Given the description of an element on the screen output the (x, y) to click on. 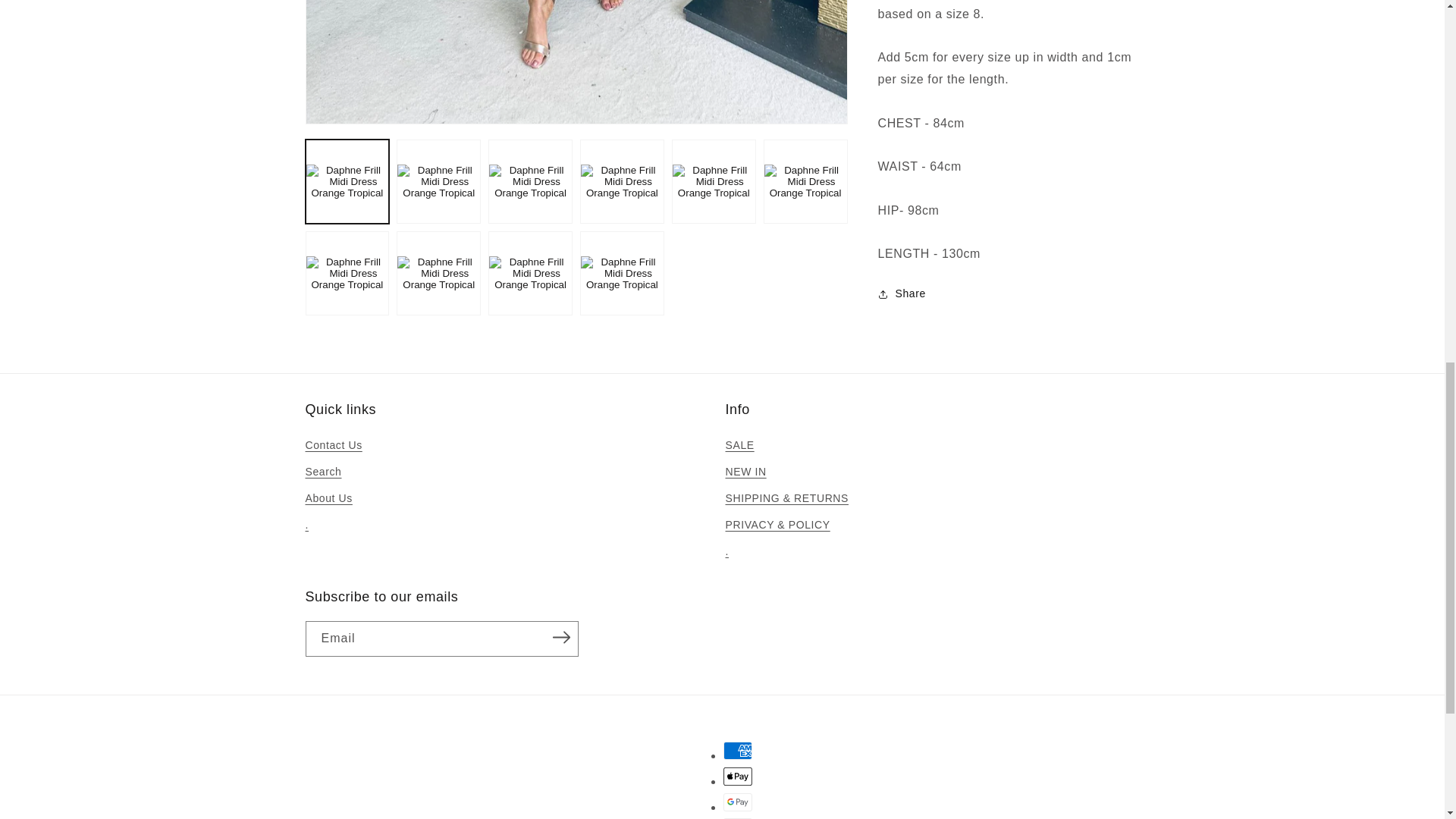
Google Pay (737, 802)
American Express (737, 751)
Apple Pay (737, 776)
